Given the description of an element on the screen output the (x, y) to click on. 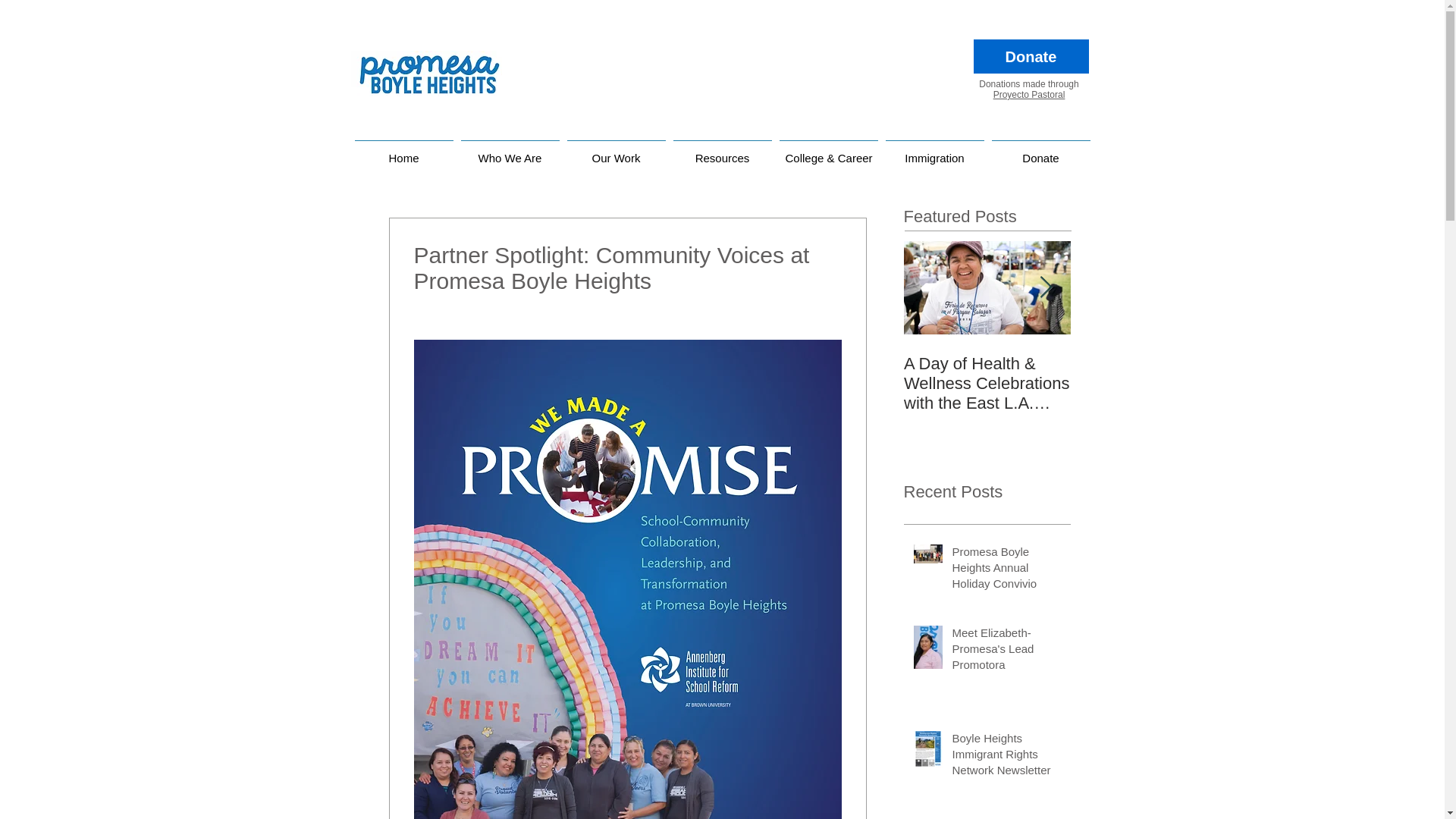
Donate (1031, 56)
Our Work (615, 151)
Home (403, 151)
Proyecto Pastoral (1028, 94)
Donate (1040, 151)
